Given the description of an element on the screen output the (x, y) to click on. 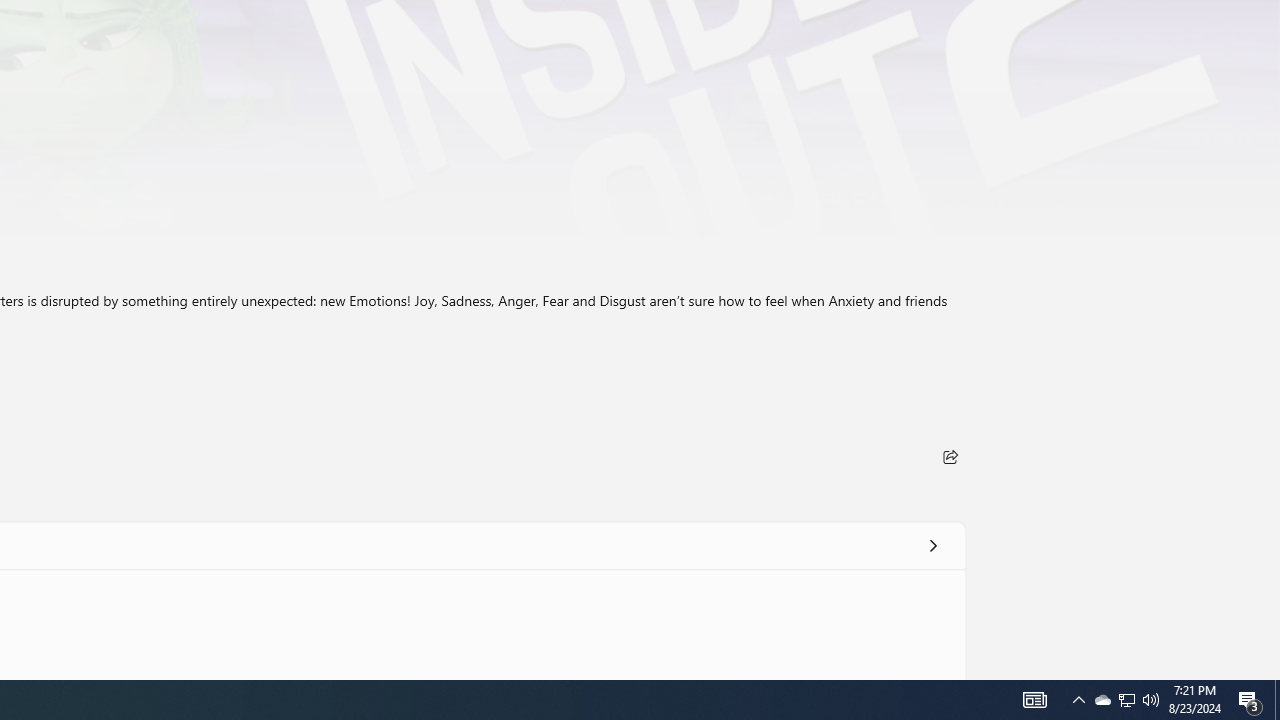
Share (950, 456)
See all (932, 544)
